Given the description of an element on the screen output the (x, y) to click on. 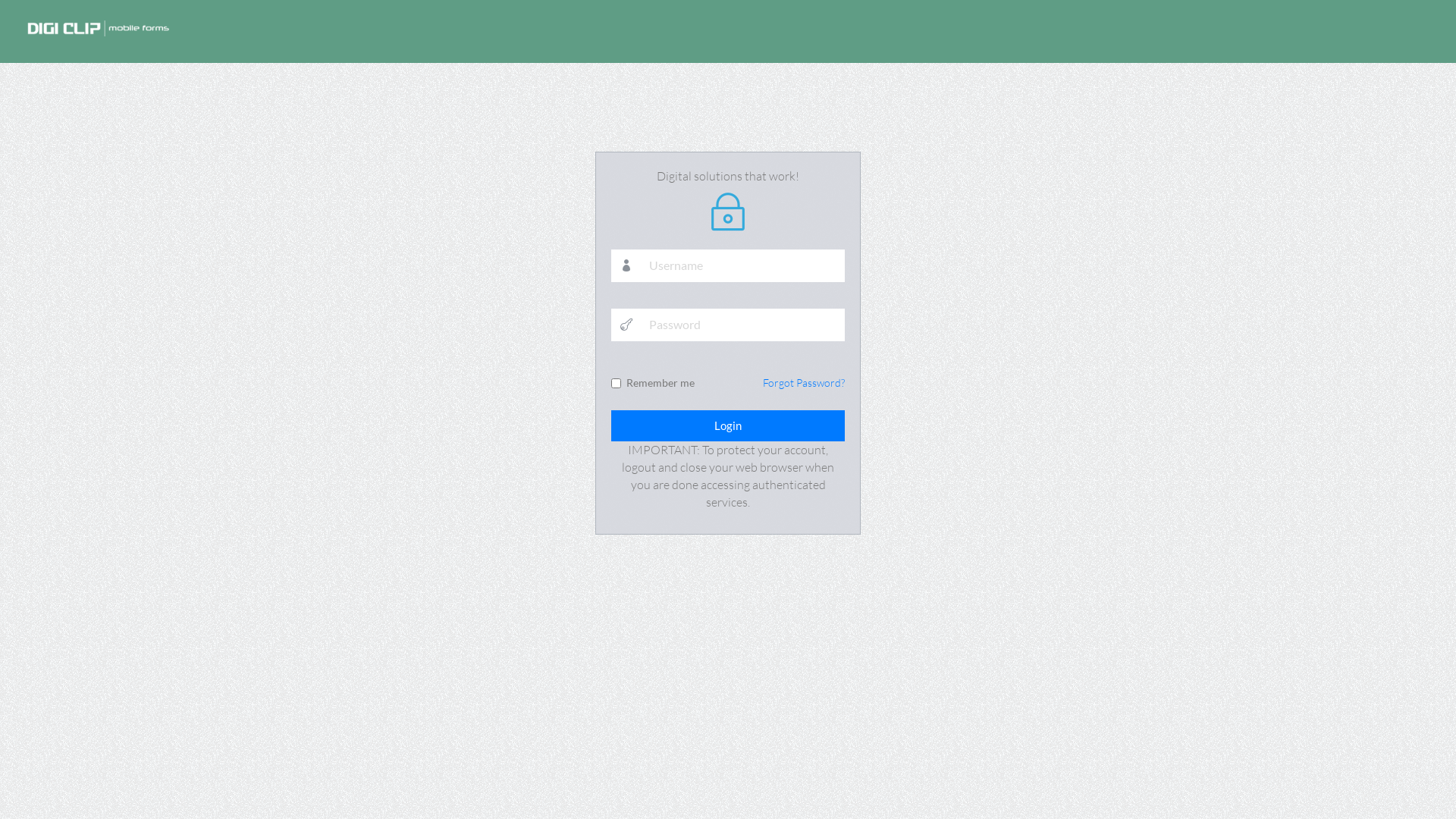
Forgot Password? Element type: text (803, 382)
Login Element type: text (727, 426)
